Given the description of an element on the screen output the (x, y) to click on. 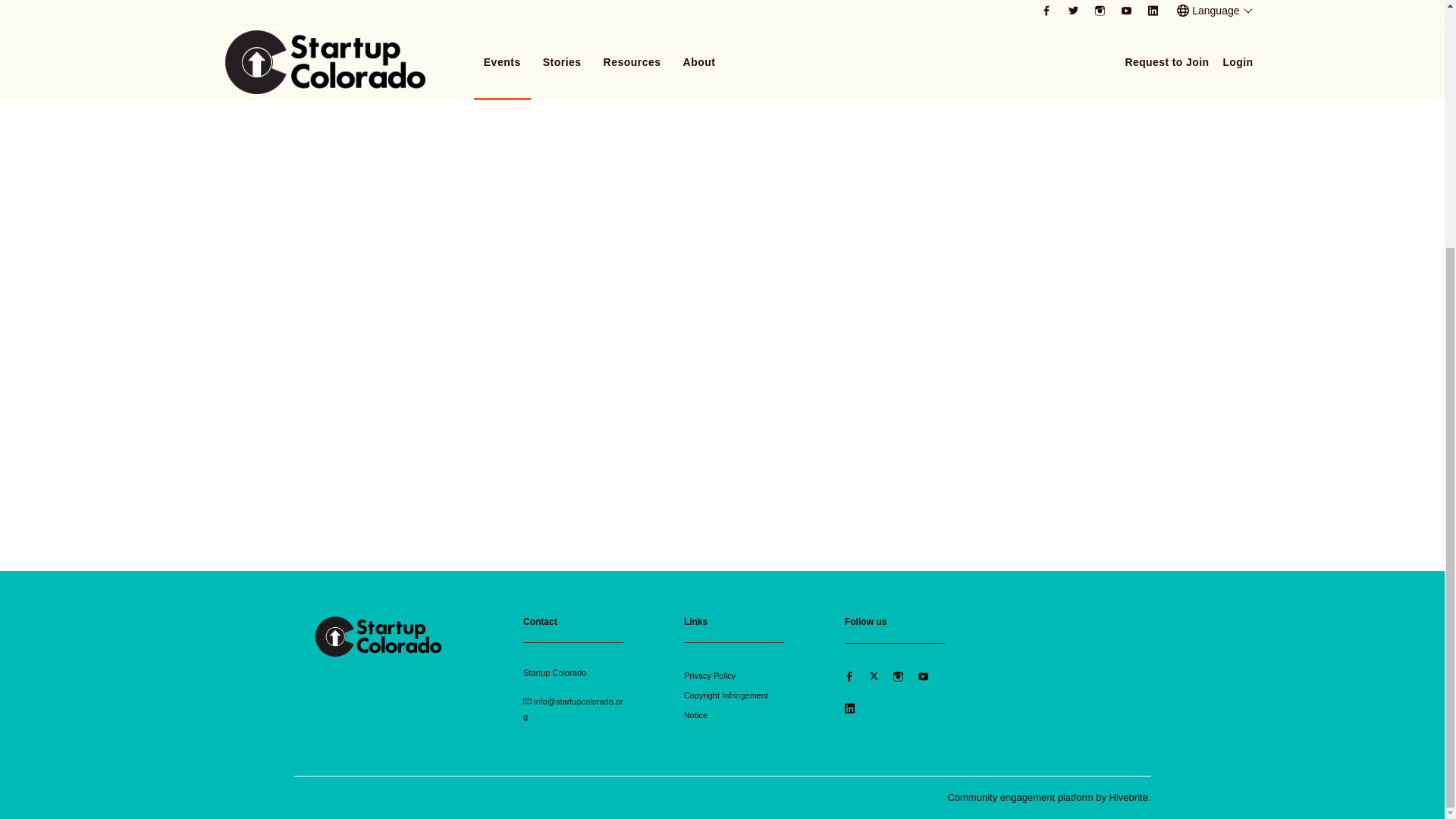
Copyright Infringement Notice (726, 705)
Privacy Policy (709, 675)
Privacy Policy (709, 675)
Copyright Infringement Notice (726, 705)
